Given the description of an element on the screen output the (x, y) to click on. 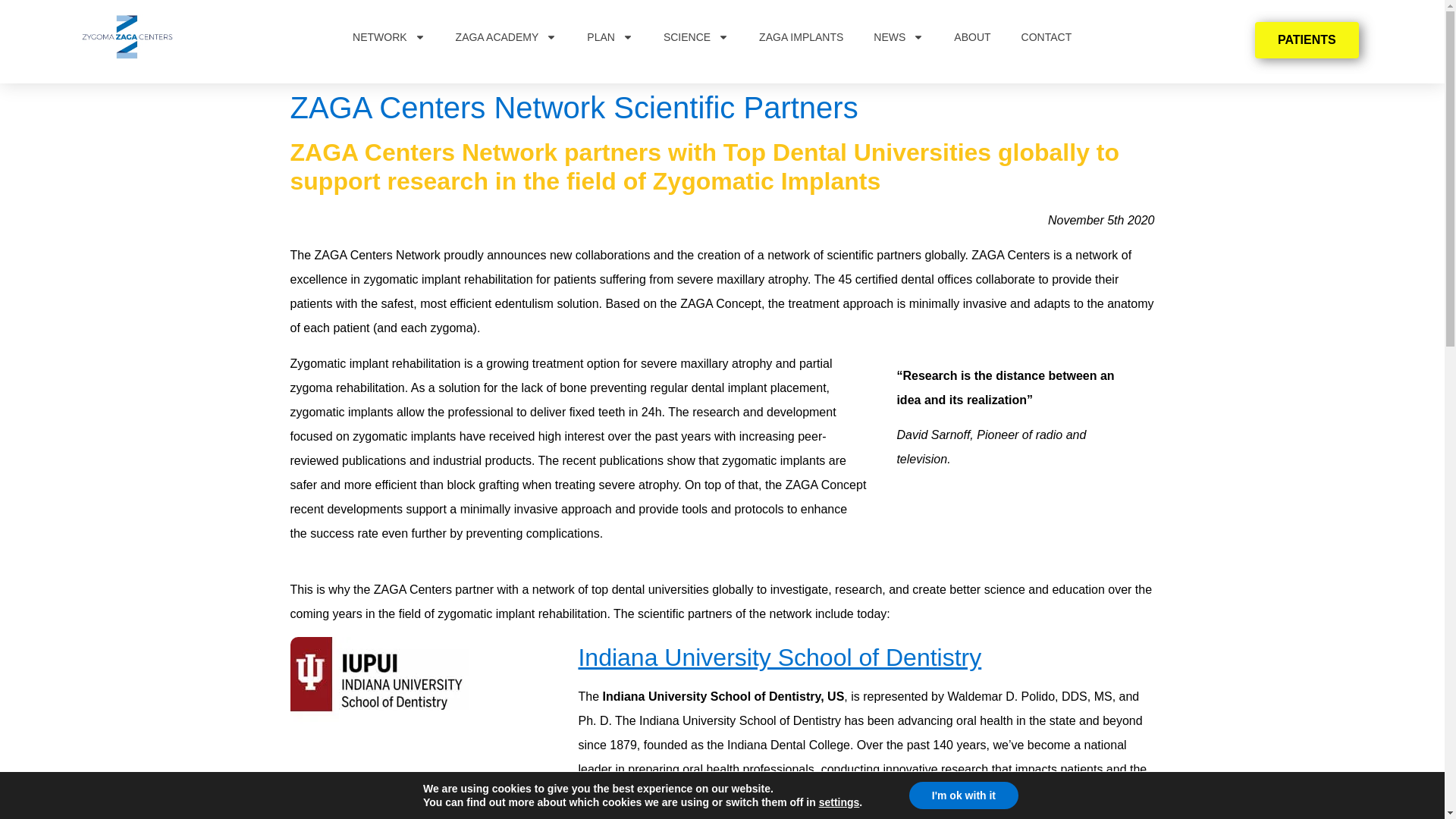
PLAN (609, 36)
NETWORK (389, 36)
ABOUT (972, 36)
SCIENCE (695, 36)
NEWS (899, 36)
ZAGA ACADEMY (506, 36)
CONTACT (1046, 36)
ZAGA IMPLANTS (801, 36)
